Given the description of an element on the screen output the (x, y) to click on. 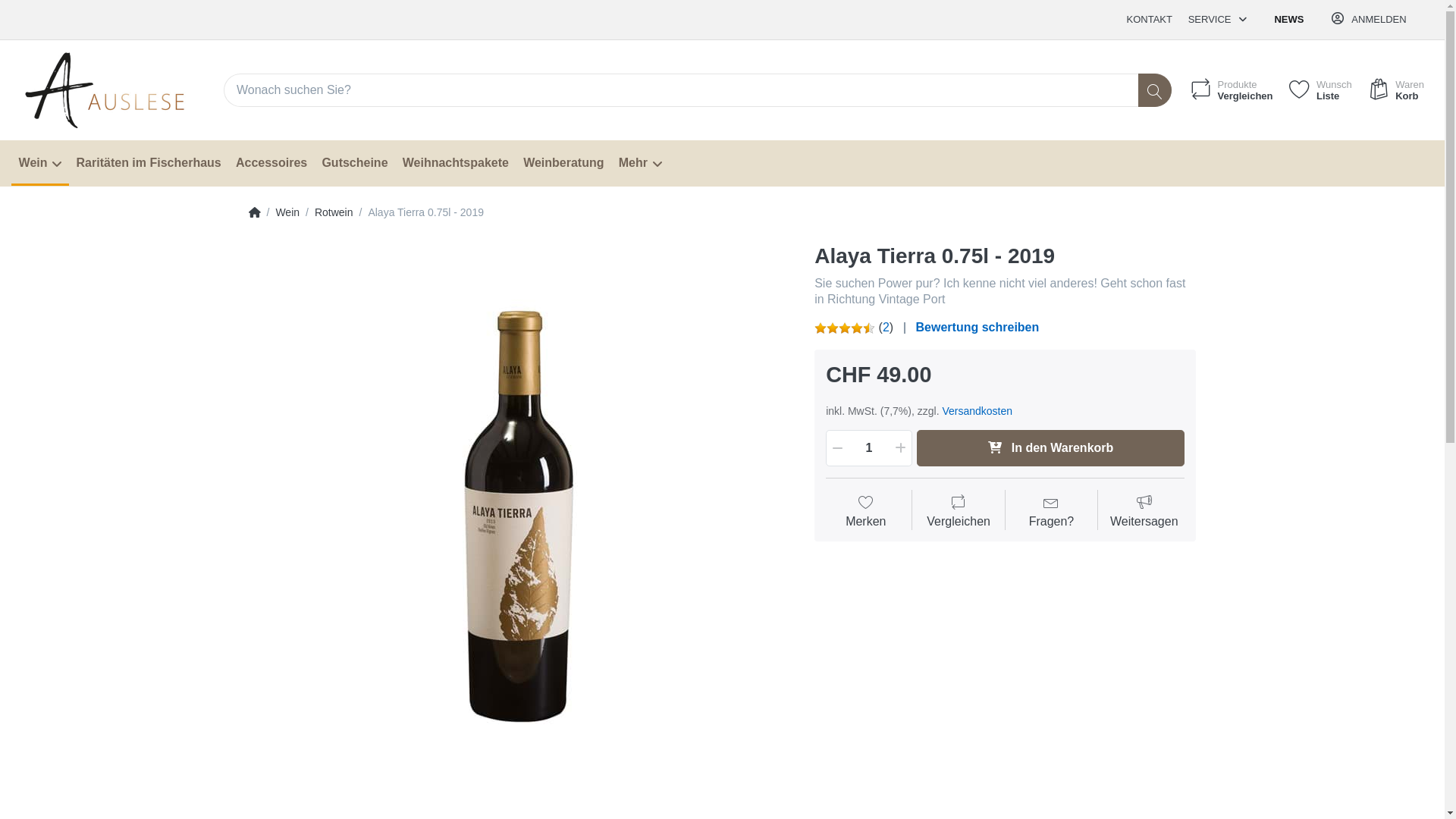
ANMELDEN Element type: text (1369, 19)
Alaya Tierra 0.75l - 2019 Element type: hover (519, 514)
Fragen? Element type: text (1051, 512)
2 Element type: text (885, 326)
Wein und Design Element type: hover (119, 97)
Accessoires Element type: text (270, 163)
Mehr Element type: text (639, 163)
Versandkosten Element type: text (976, 410)
Wein Element type: text (287, 212)
NEWS Element type: text (1288, 19)
In den Warenkorb Element type: text (1050, 447)
Produkte
Vergleichen Element type: text (1229, 89)
Suchen Element type: hover (1154, 89)
Waren
Korb Element type: text (1394, 89)
Bewertung schreiben Element type: text (977, 326)
Weinberatung Element type: text (563, 163)
Rotwein Element type: text (333, 212)
SERVICE Element type: text (1216, 19)
Vergleichen Element type: text (957, 512)
KONTAKT Element type: text (1148, 19)
Wein Element type: text (40, 163)
Wunsch
Liste Element type: text (1319, 89)
Weitersagen Element type: text (1143, 512)
Merken Element type: text (865, 512)
Home Element type: hover (254, 212)
Gutscheine Element type: text (354, 163)
Weihnachtspakete Element type: text (455, 163)
